Given the description of an element on the screen output the (x, y) to click on. 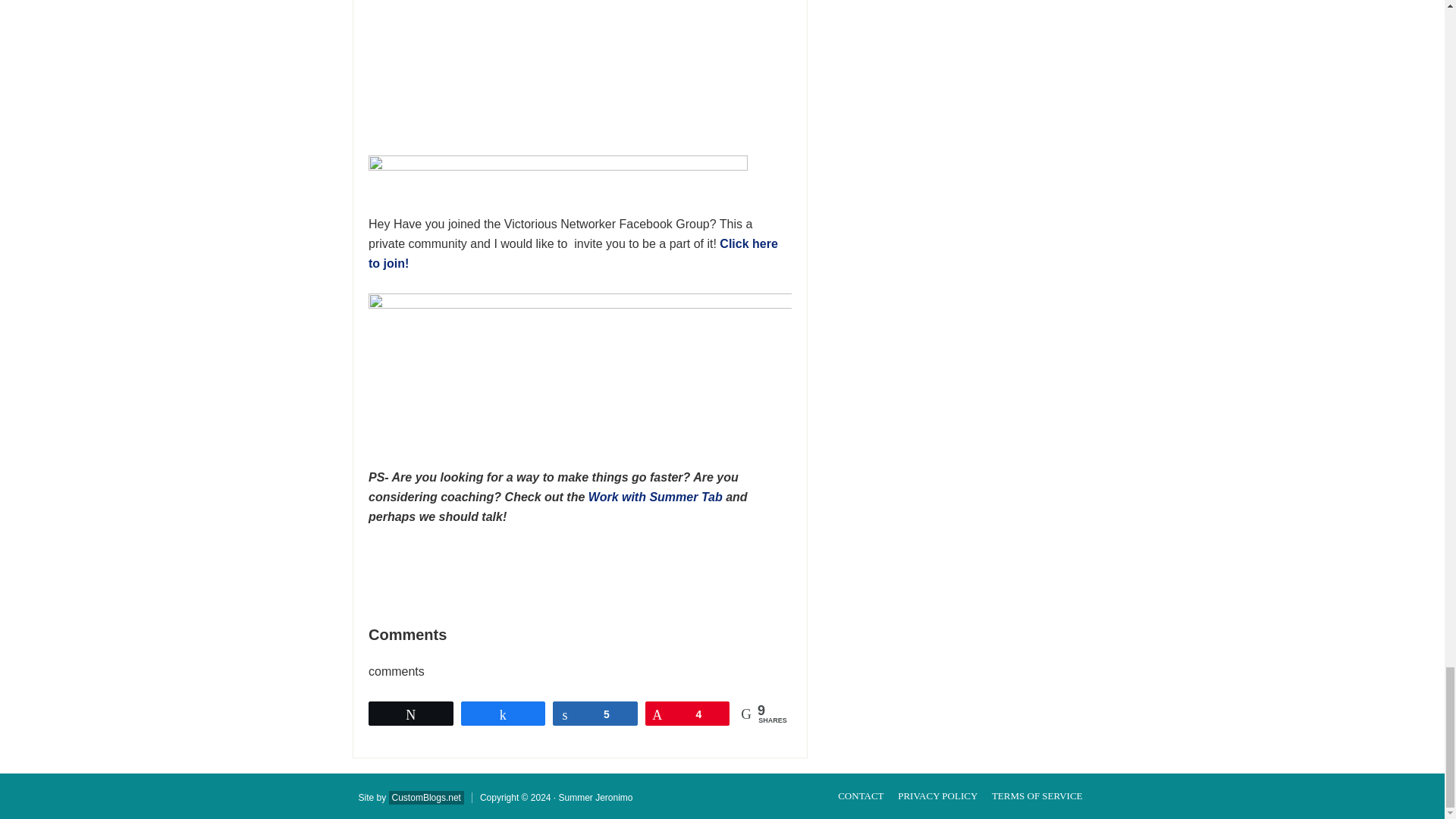
4 (687, 712)
Work with Summer Tab (655, 496)
5 (595, 712)
Click here to join! (572, 253)
